Given the description of an element on the screen output the (x, y) to click on. 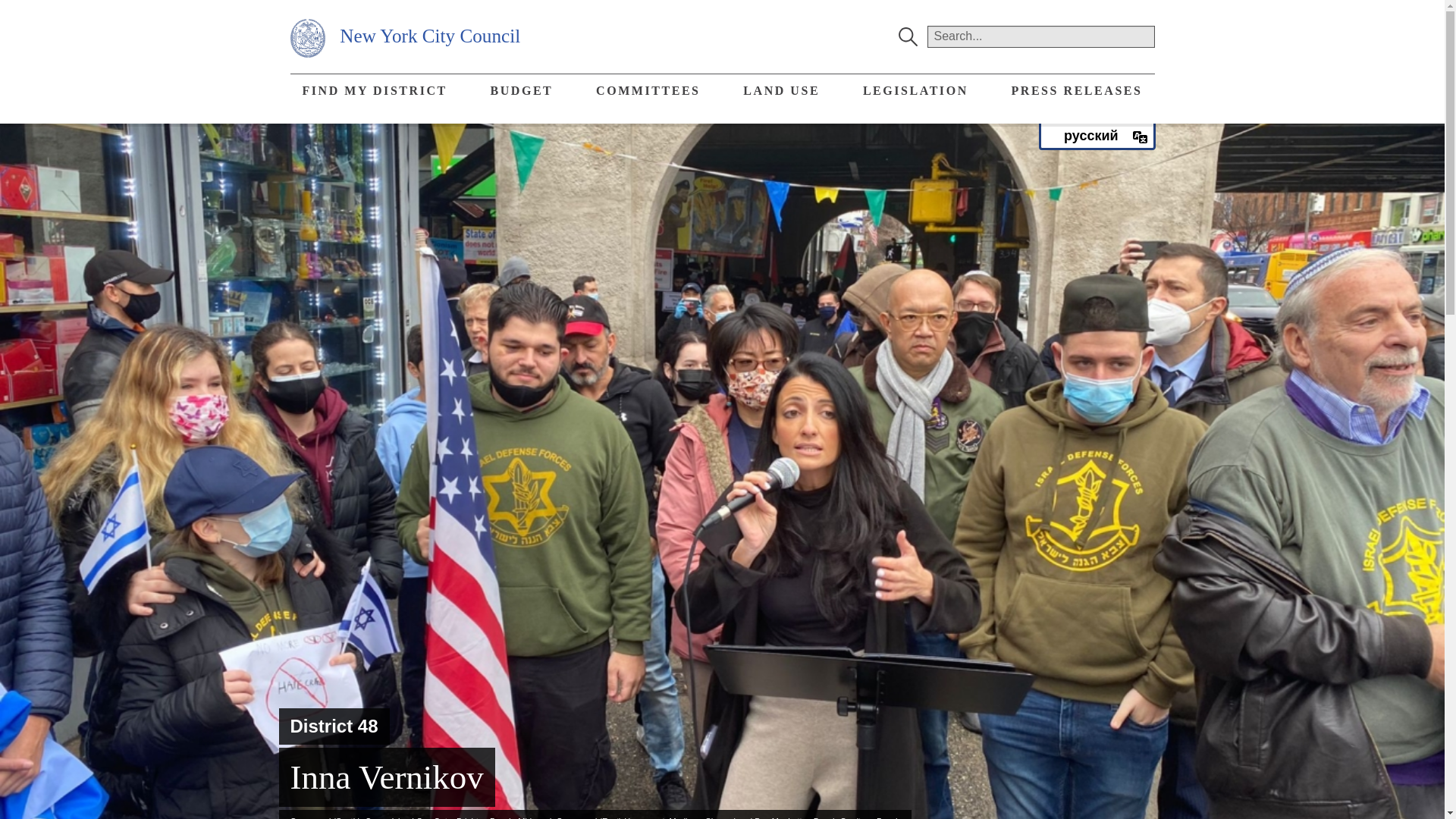
PRESS RELEASES (1076, 91)
LAND USE (780, 91)
Search for: (1040, 36)
FIND MY DISTRICT (373, 91)
COMMITTEES (647, 91)
New York City Council (405, 36)
LEGISLATION (914, 91)
Inna Vernikov (386, 777)
BUDGET (520, 91)
District 48 (333, 725)
